Given the description of an element on the screen output the (x, y) to click on. 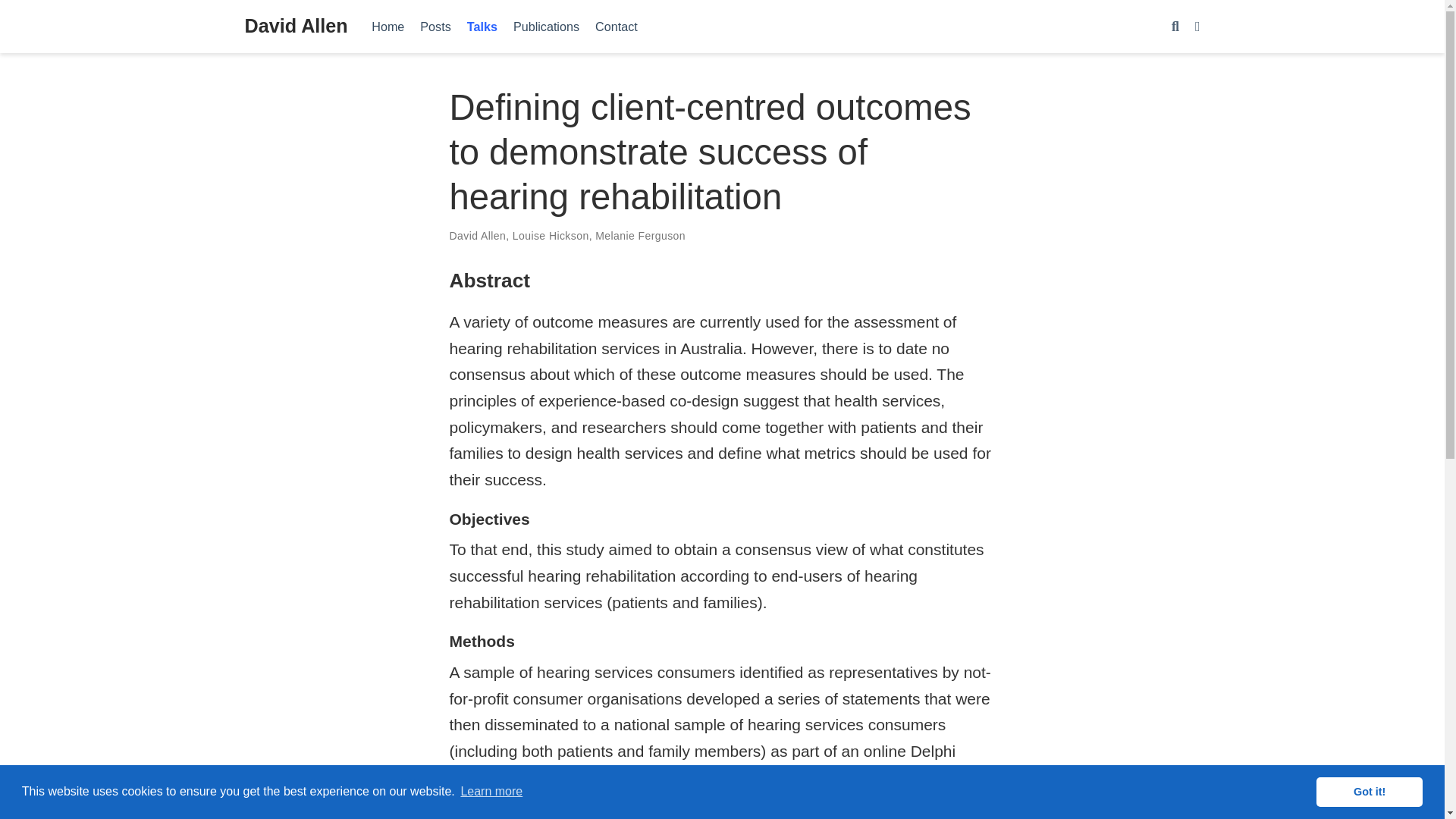
Home (388, 25)
Talks (481, 25)
Got it! (1369, 791)
Publications (545, 25)
Louise Hickson (550, 235)
Posts (435, 25)
David Allen (295, 26)
Melanie Ferguson (640, 235)
Learn more (491, 791)
Contact (617, 25)
